Given the description of an element on the screen output the (x, y) to click on. 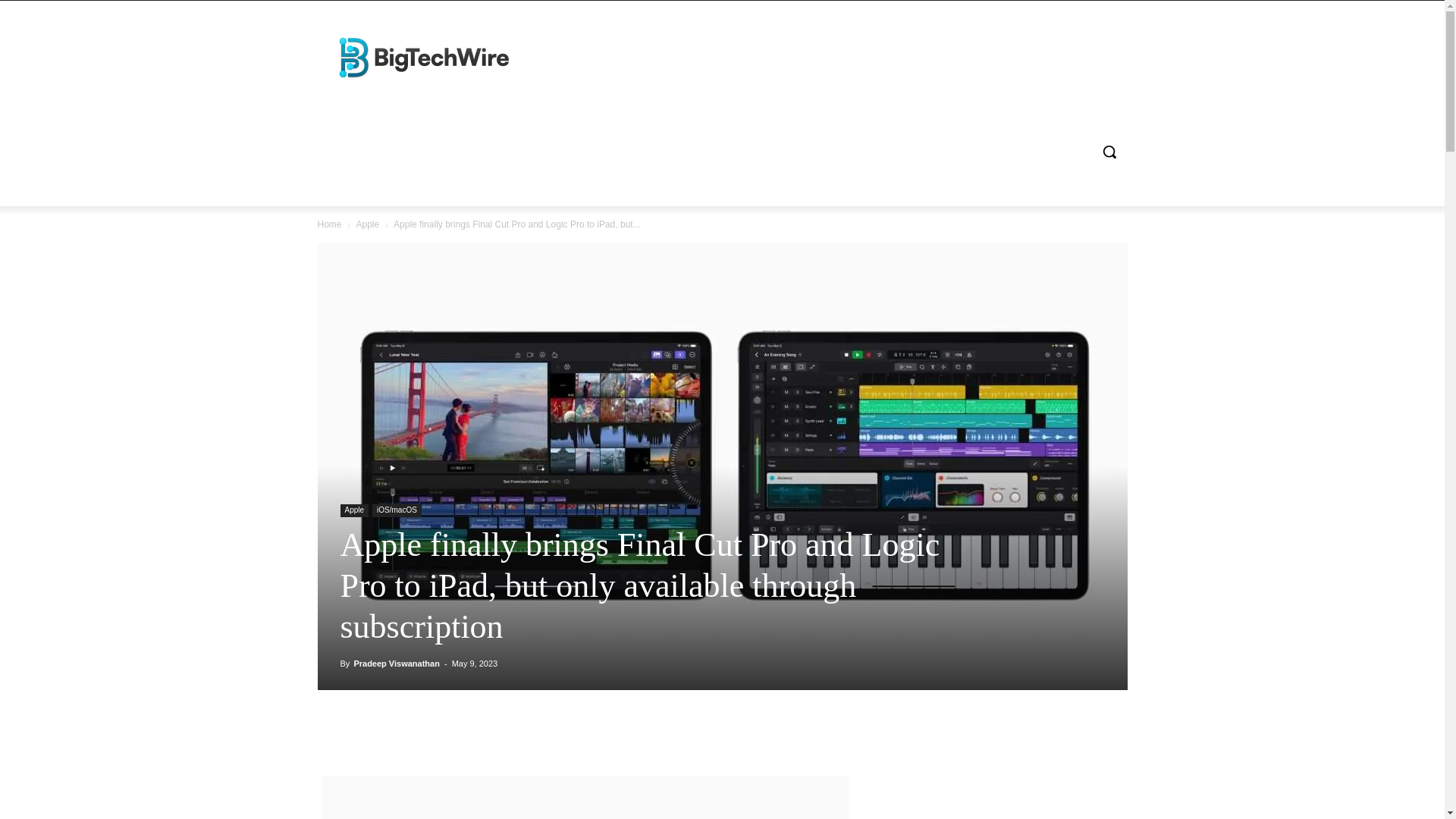
BigTechWire (426, 56)
View all posts in Apple (366, 224)
BigTechWire (425, 56)
